Given the description of an element on the screen output the (x, y) to click on. 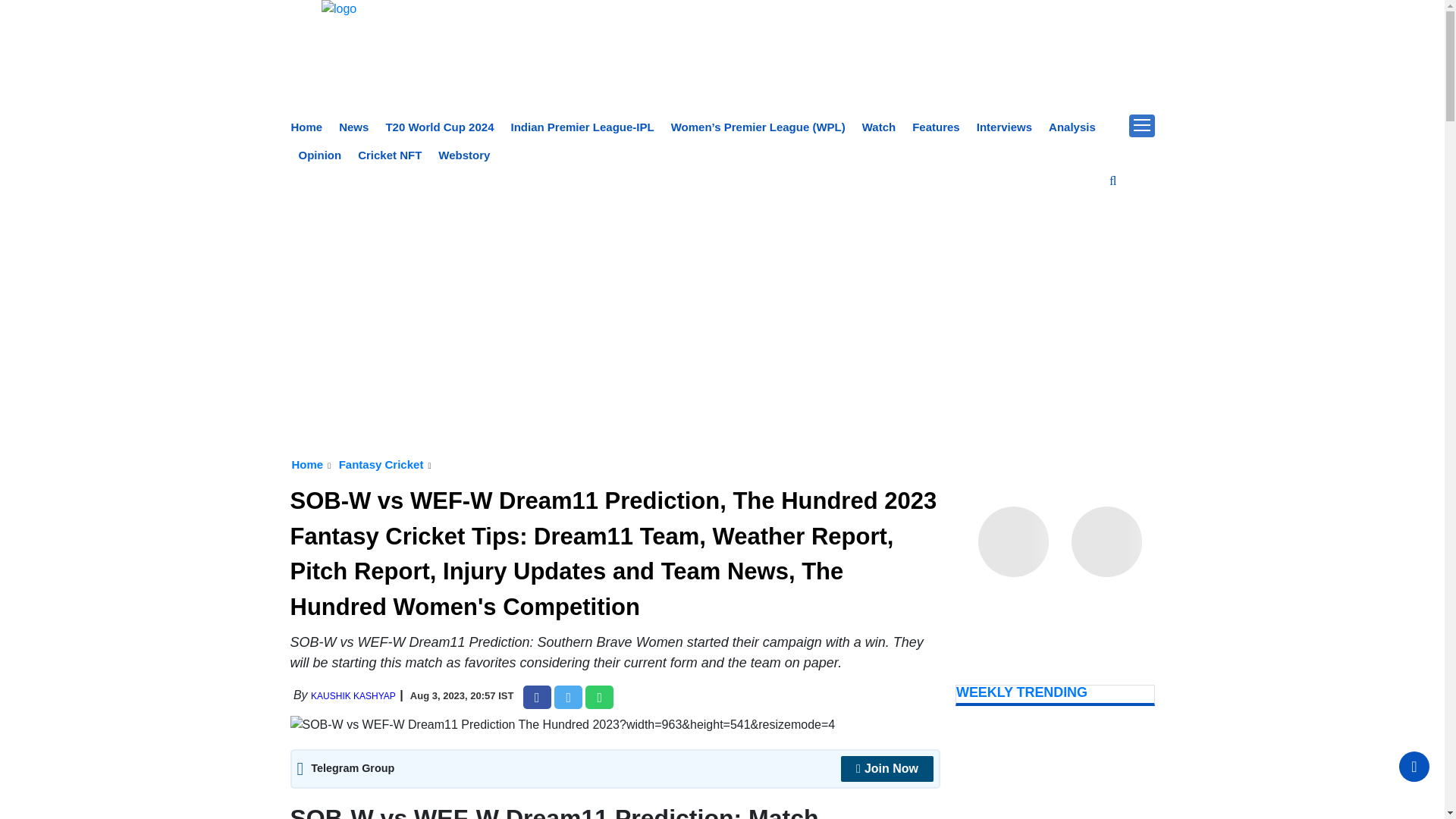
Fantasy Cricket (381, 463)
Opinion (320, 154)
News (353, 126)
Webstory (463, 154)
Features (935, 126)
Home (307, 126)
KAUSHIK KASHYAP (353, 696)
T20 World Cup 2024 (439, 126)
Home (307, 463)
Cricket NFT (390, 154)
